Given the description of an element on the screen output the (x, y) to click on. 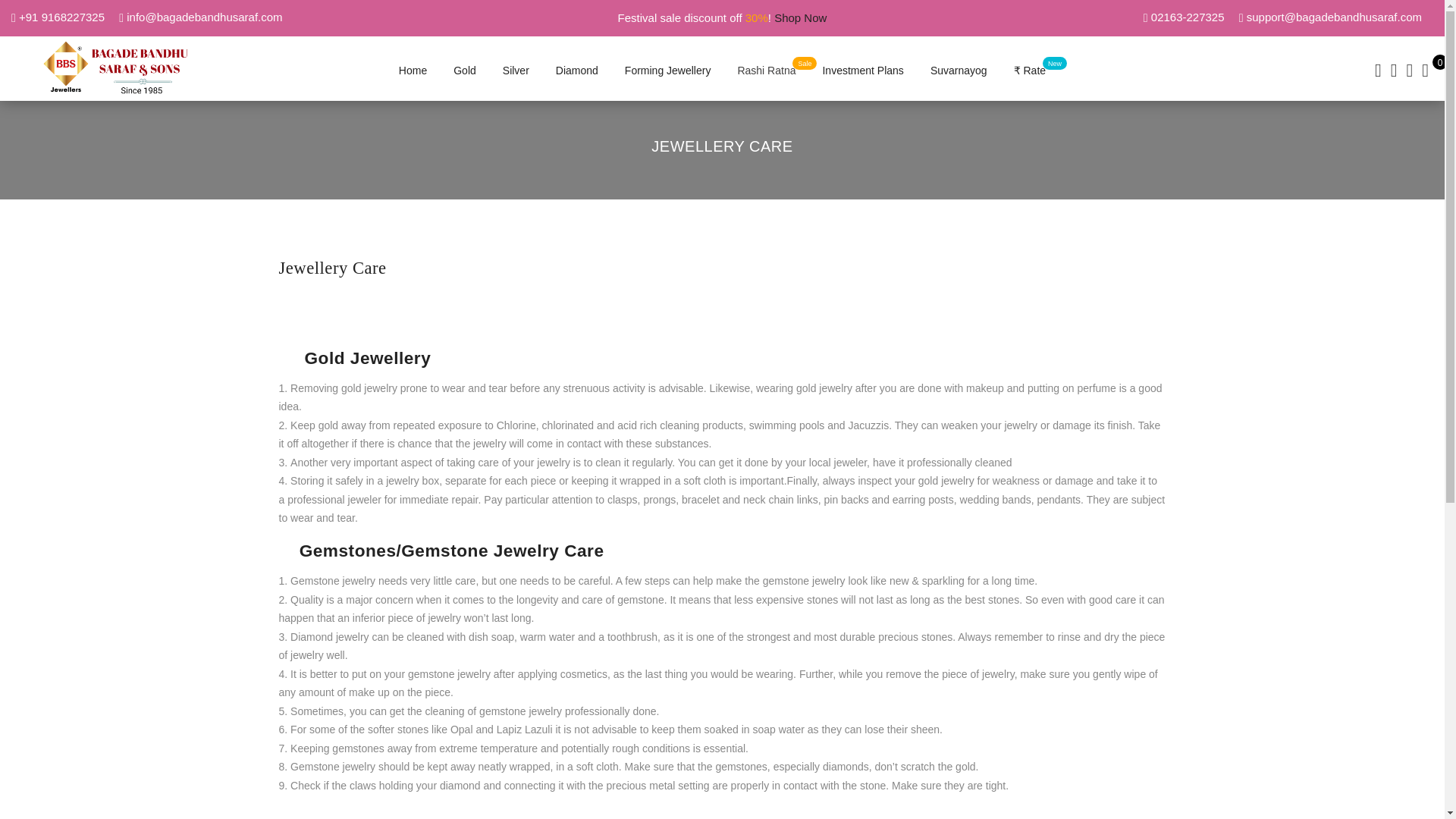
02163-227325 (1186, 16)
Trending (958, 70)
Silver (515, 70)
Gold (464, 70)
Forming Jewellery (667, 70)
Diamond (577, 70)
Shop Now (800, 17)
Home (412, 70)
Sale (765, 70)
New (1029, 70)
